Given the description of an element on the screen output the (x, y) to click on. 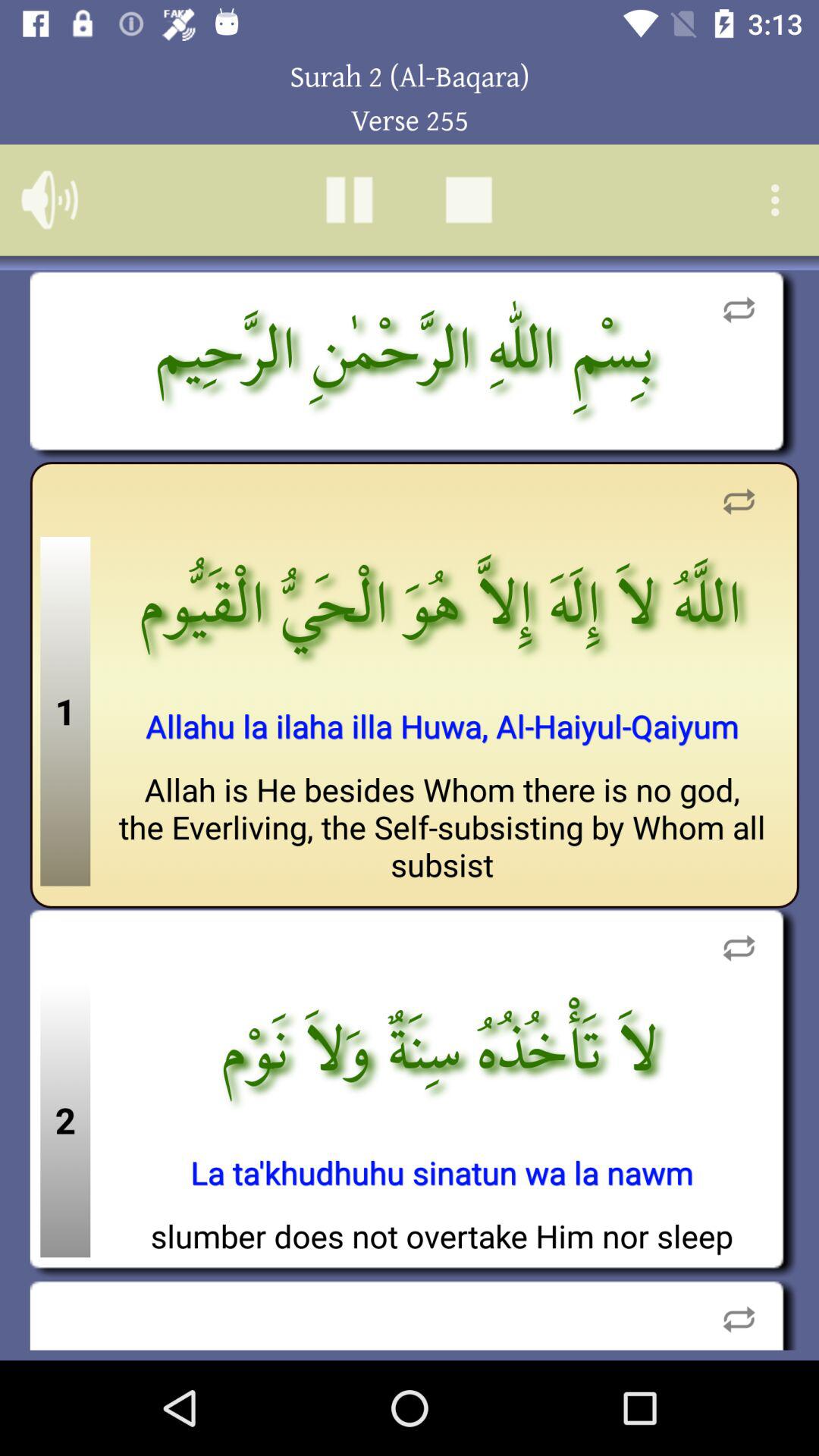
press the icon below surah 2 al (468, 199)
